Given the description of an element on the screen output the (x, y) to click on. 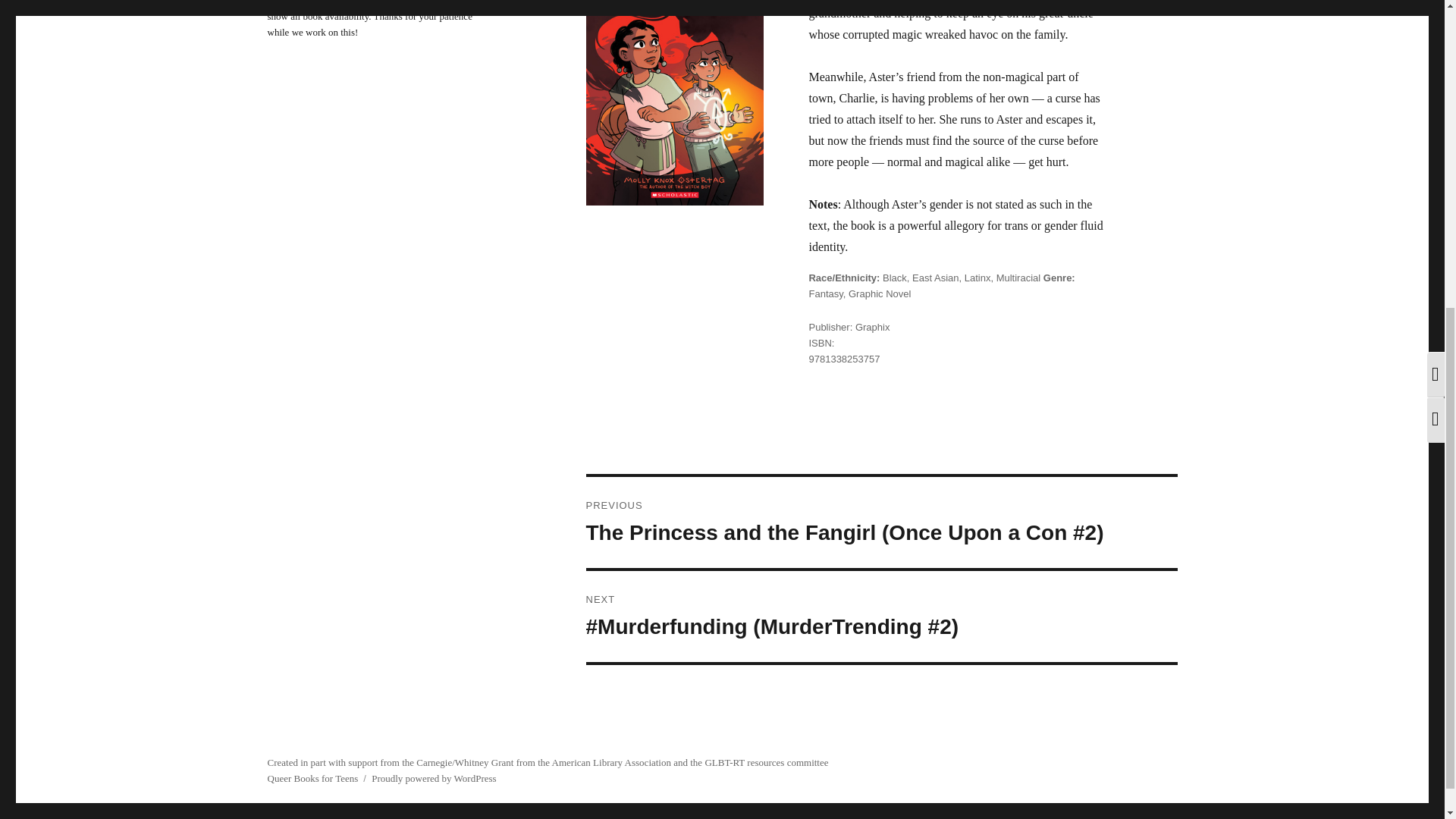
Latinx (977, 277)
Fantasy (825, 293)
East Asian (935, 277)
Multiracial (1018, 277)
Black (894, 277)
